Given the description of an element on the screen output the (x, y) to click on. 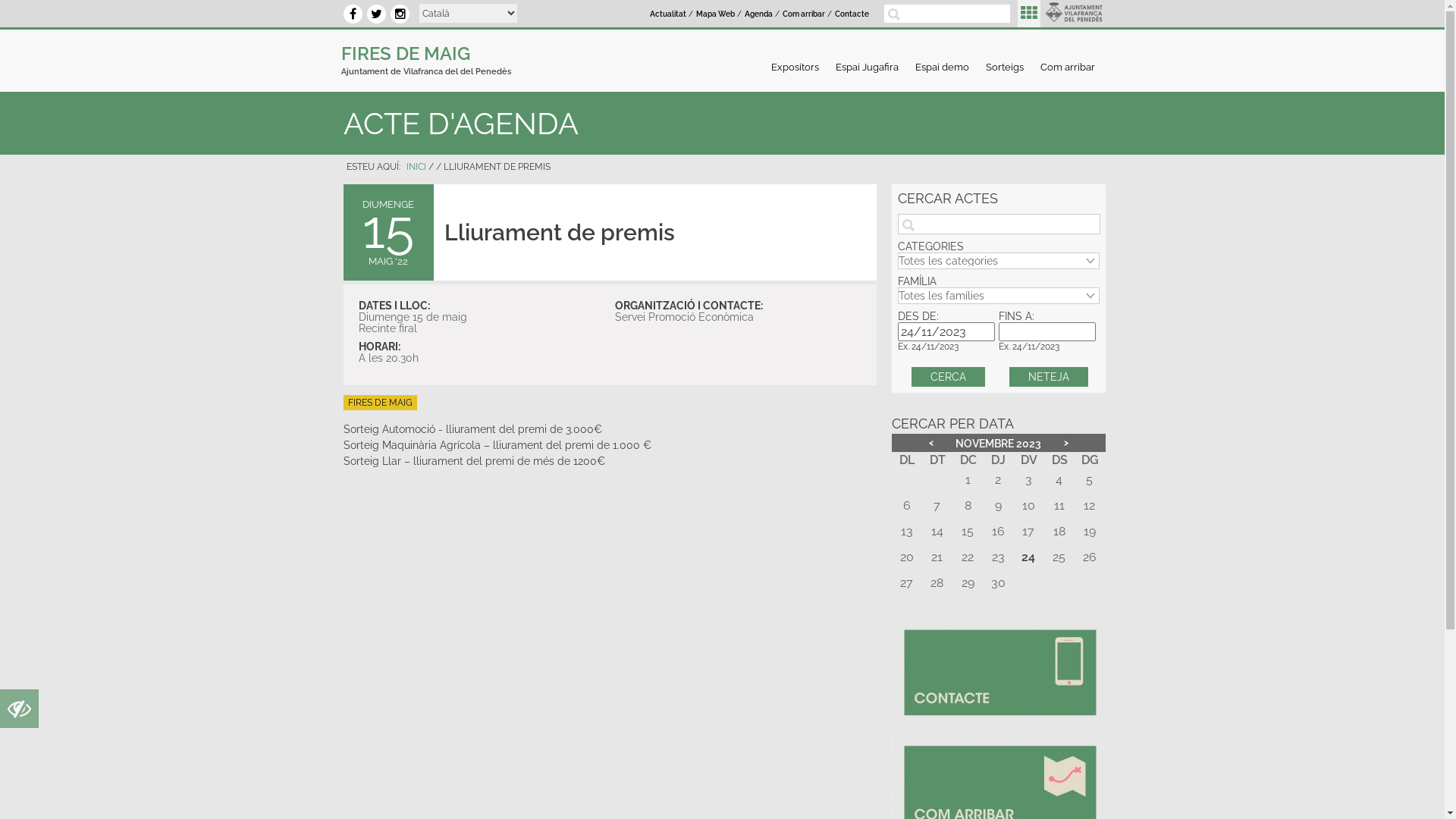
Com arribar Element type: text (1067, 66)
INICI Element type: text (416, 166)
Actualitat Element type: text (667, 14)
Mapa Web Element type: text (715, 14)
Cerca Element type: text (948, 376)
Agenda Element type: text (758, 14)
Accessibilitat Element type: hover (19, 712)
FIRES DE MAIG Element type: text (379, 402)
Com arribar Element type: text (803, 14)
< Element type: text (931, 442)
Espai Jugafira Element type: text (866, 66)
Neteja Element type: text (1048, 376)
FIRES DE MAIG Element type: text (405, 53)
Expositors Element type: text (794, 66)
Sorteigs Element type: text (1004, 66)
Contacte Element type: text (851, 14)
Espai demo Element type: text (941, 66)
> Element type: text (1066, 442)
